Given the description of an element on the screen output the (x, y) to click on. 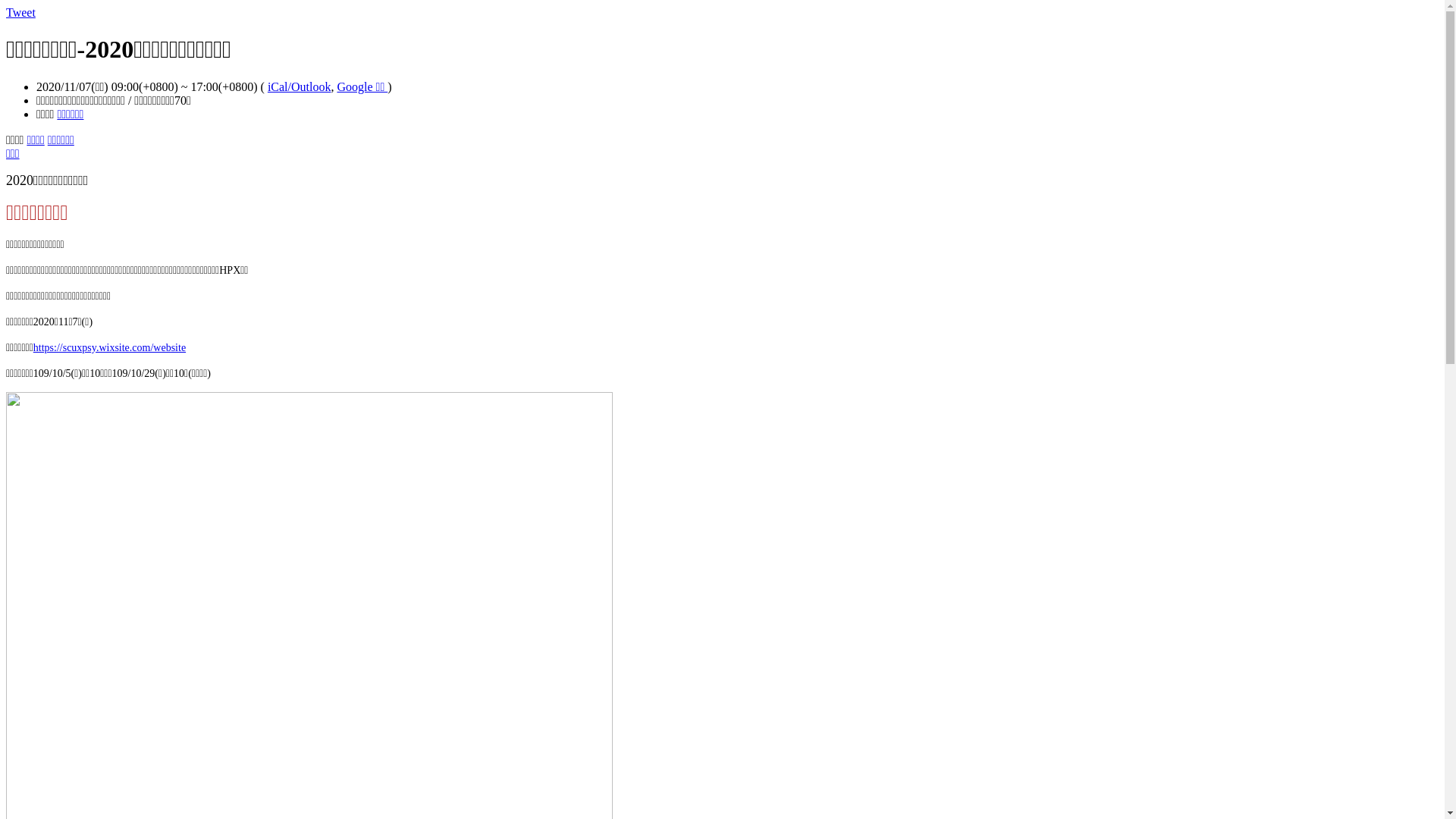
iCal/Outlook Element type: text (299, 86)
Tweet Element type: text (20, 12)
https://scuxpsy.wixsite.com/website Element type: text (109, 347)
